Given the description of an element on the screen output the (x, y) to click on. 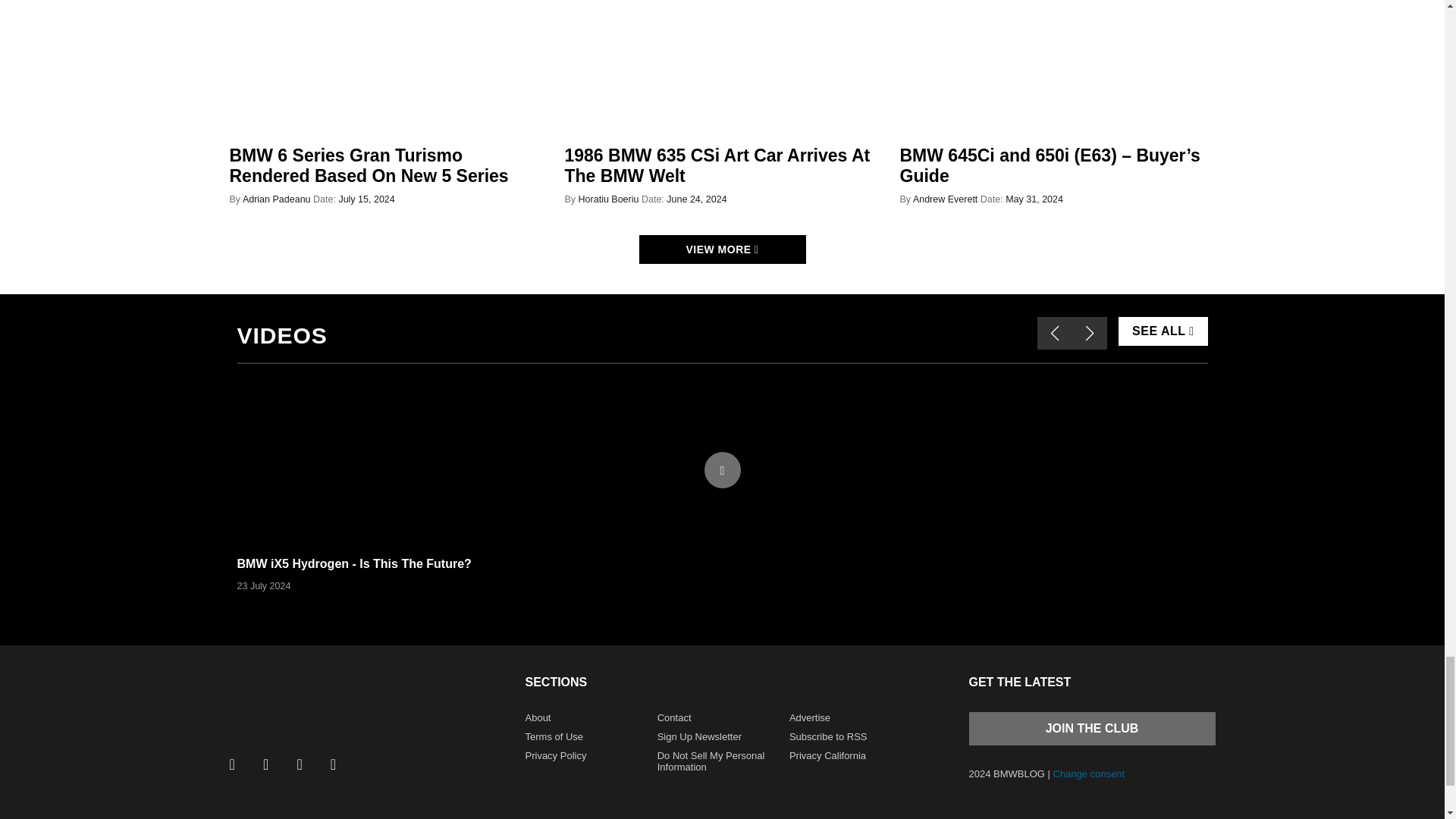
Join the club (1092, 728)
